Given the description of an element on the screen output the (x, y) to click on. 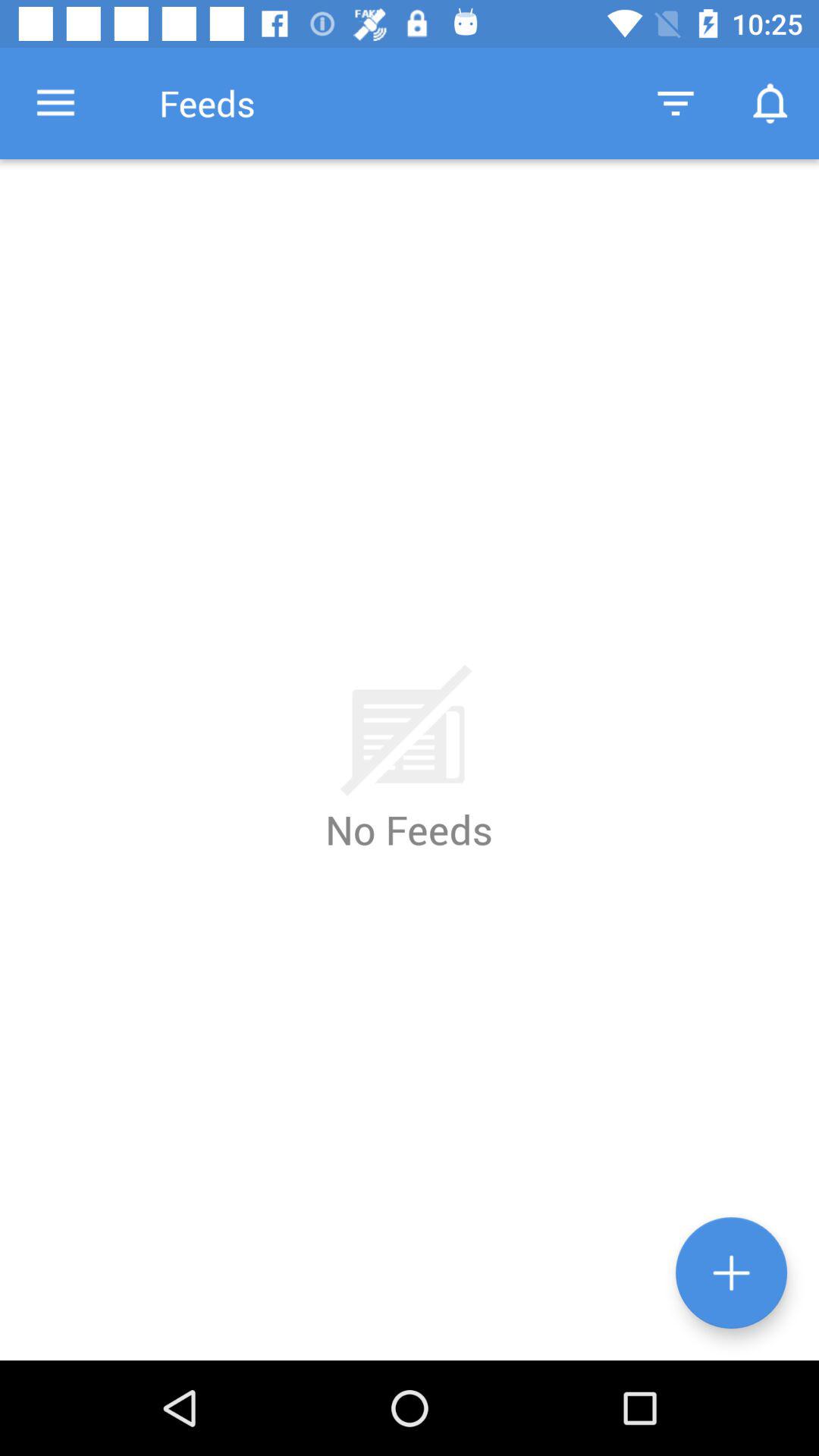
tap the icon next to feeds item (55, 103)
